Given the description of an element on the screen output the (x, y) to click on. 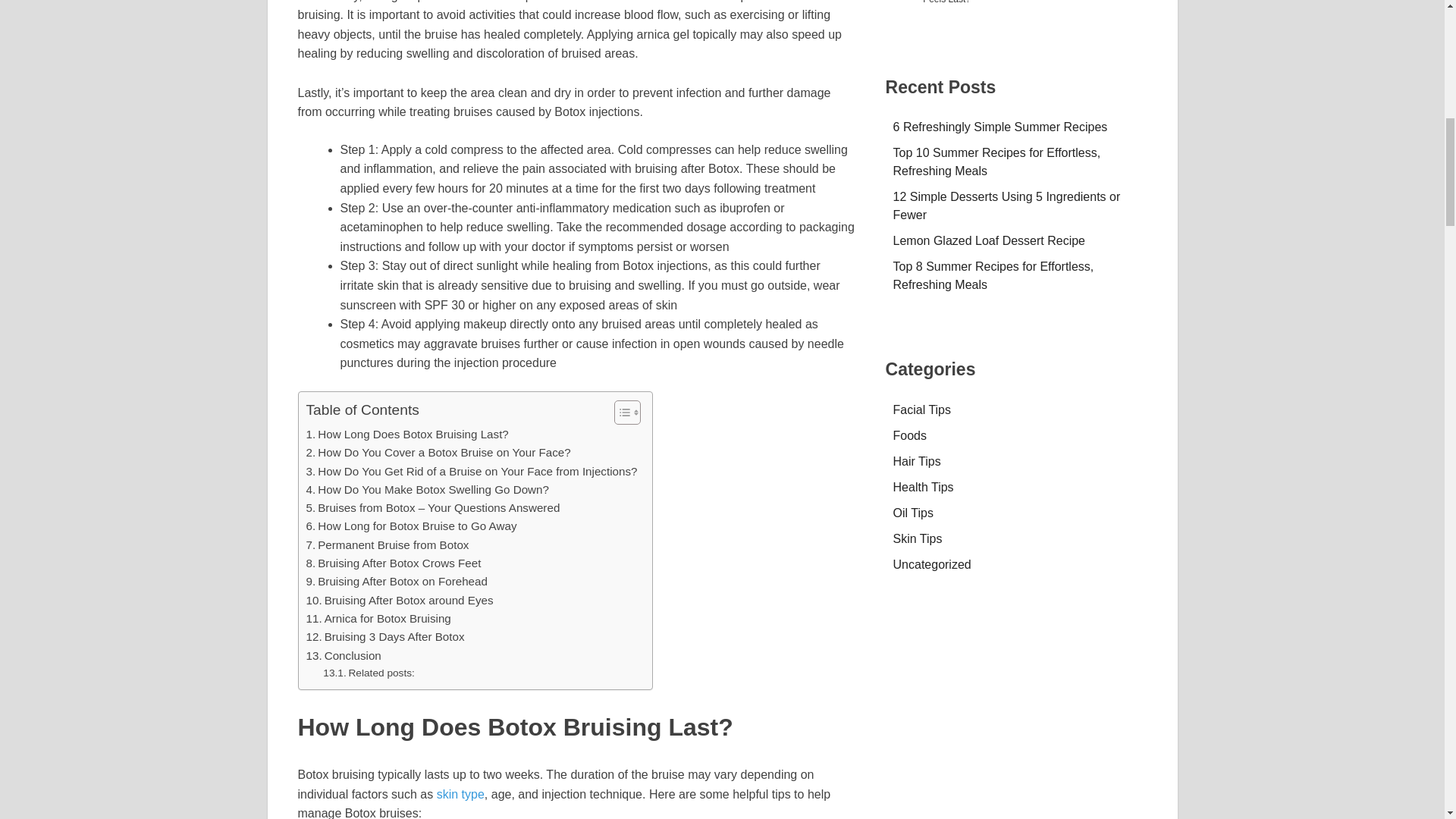
How Long Does Botox Bruising Last? (406, 434)
Bruising 3 Days After Botox (384, 637)
How Long Does Botox Bruising Last? (406, 434)
Related posts: (368, 673)
Bruising After Botox Crows Feet (393, 563)
How Do You Cover a Botox Bruise on Your Face? (437, 452)
Bruising After Botox around Eyes (399, 600)
Bruising After Botox around Eyes (399, 600)
Arnica for Botox Bruising (378, 618)
skin type (460, 793)
How Long for Botox Bruise to Go Away (410, 525)
How Do You Get Rid of a Bruise on Your Face from Injections? (471, 471)
Conclusion (343, 656)
How Do You Make Botox Swelling Go Down? (426, 489)
Bruising After Botox Crows Feet (393, 563)
